Given the description of an element on the screen output the (x, y) to click on. 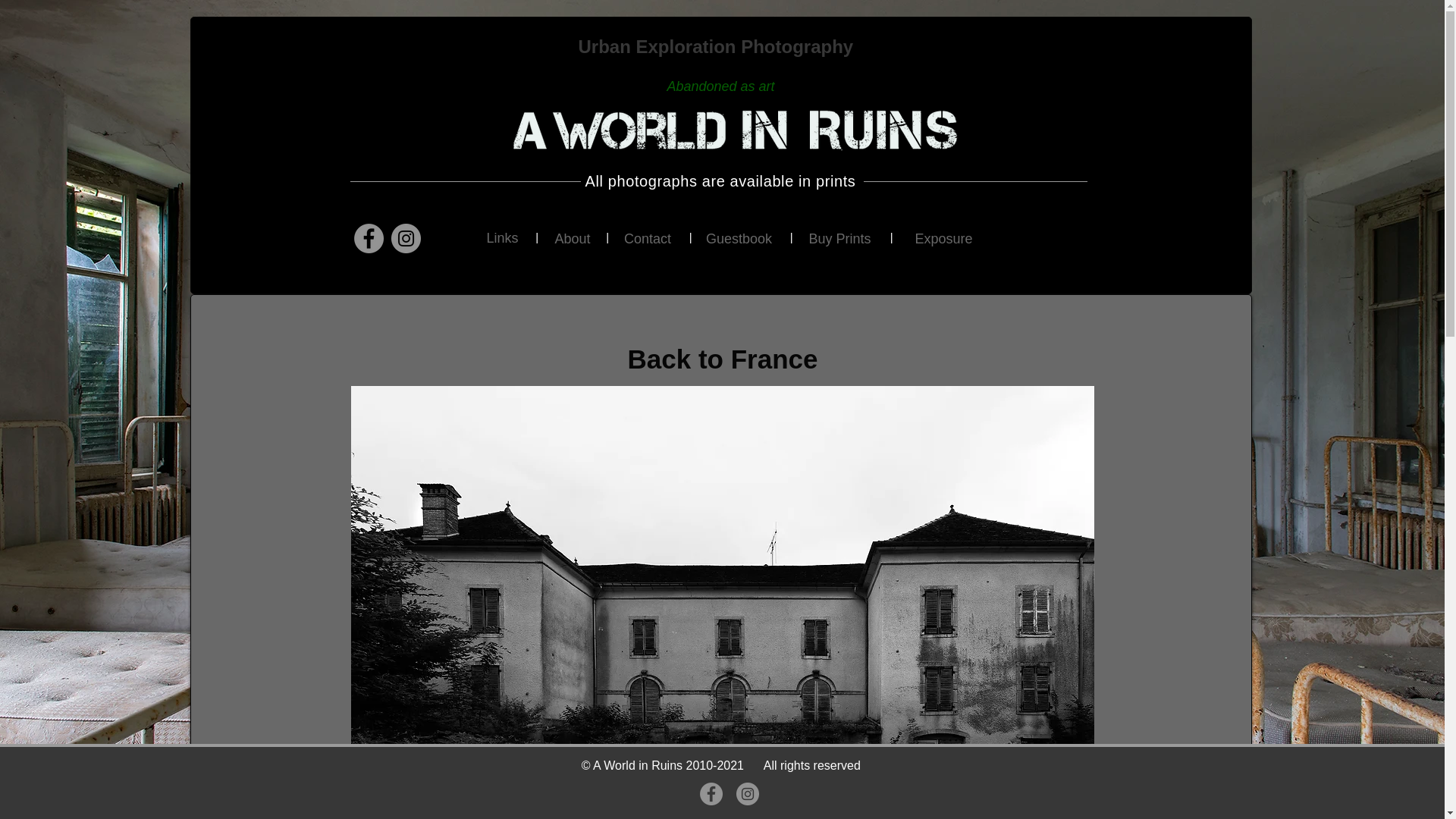
Exposure (943, 239)
Urban Exploration Photography (717, 46)
Guestbook (738, 238)
Back to France (722, 359)
Links (501, 238)
Contact (647, 238)
About (572, 238)
Buy Prints (840, 239)
